Given the description of an element on the screen output the (x, y) to click on. 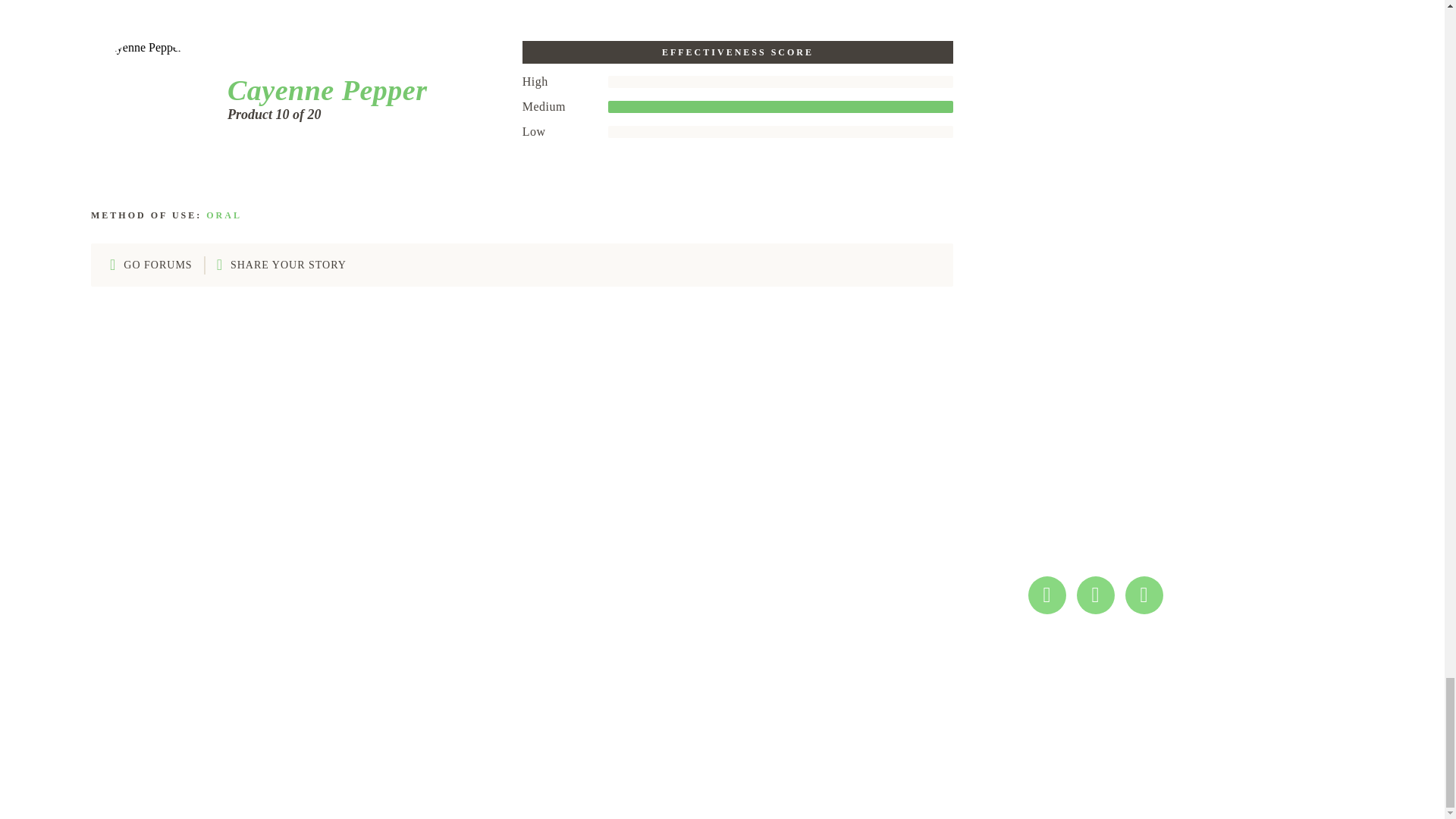
Cayenne Pepper (321, 90)
GO FORUMS (151, 264)
SHARE YOUR STORY (281, 264)
